Given the description of an element on the screen output the (x, y) to click on. 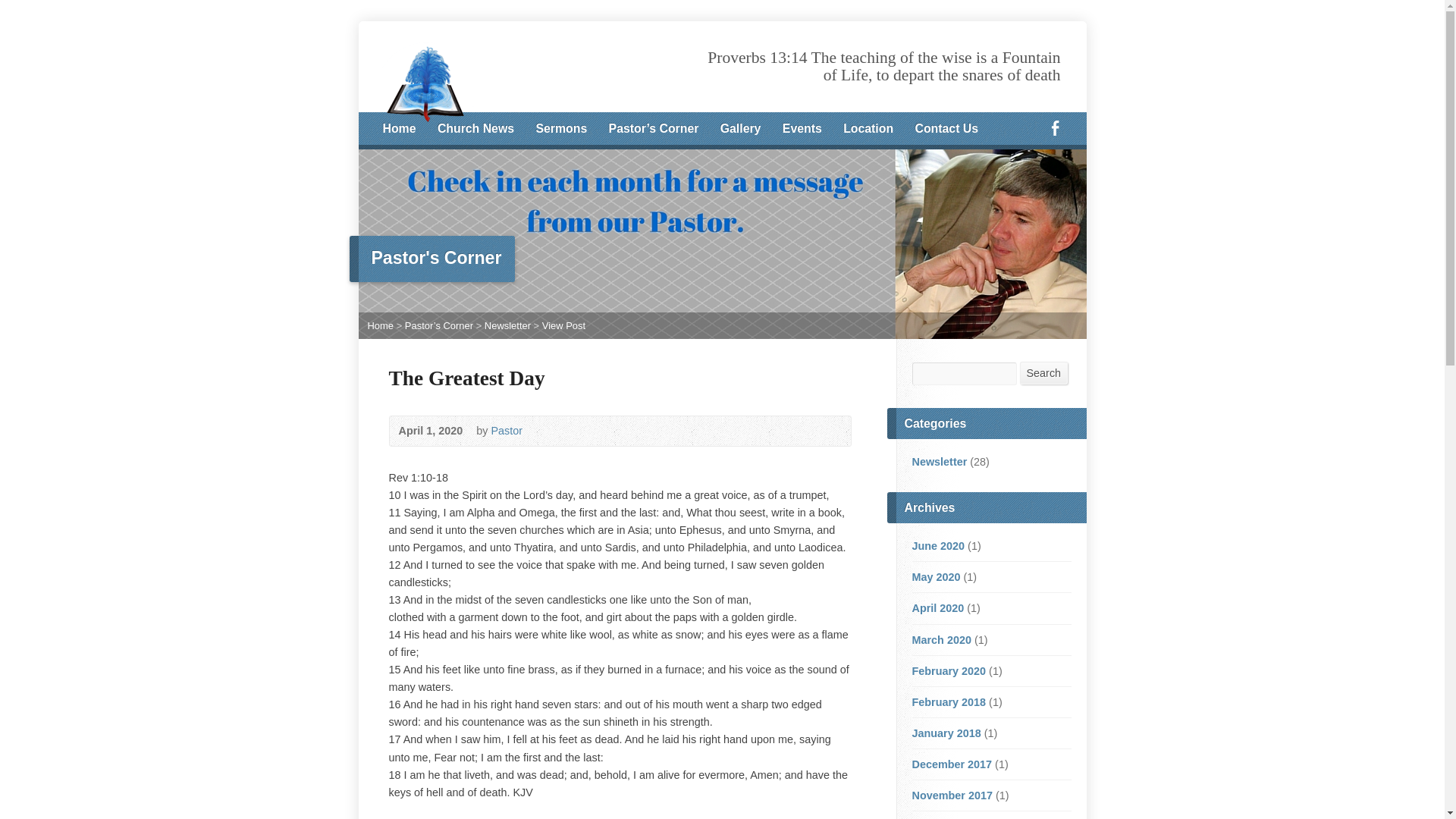
Location (868, 128)
Search (1043, 372)
Home (397, 128)
Pastor (507, 430)
Newsletter (507, 325)
June 2020 (937, 545)
Facebook (1055, 127)
February 2020 (948, 671)
View Post (563, 325)
Church News (475, 128)
